Given the description of an element on the screen output the (x, y) to click on. 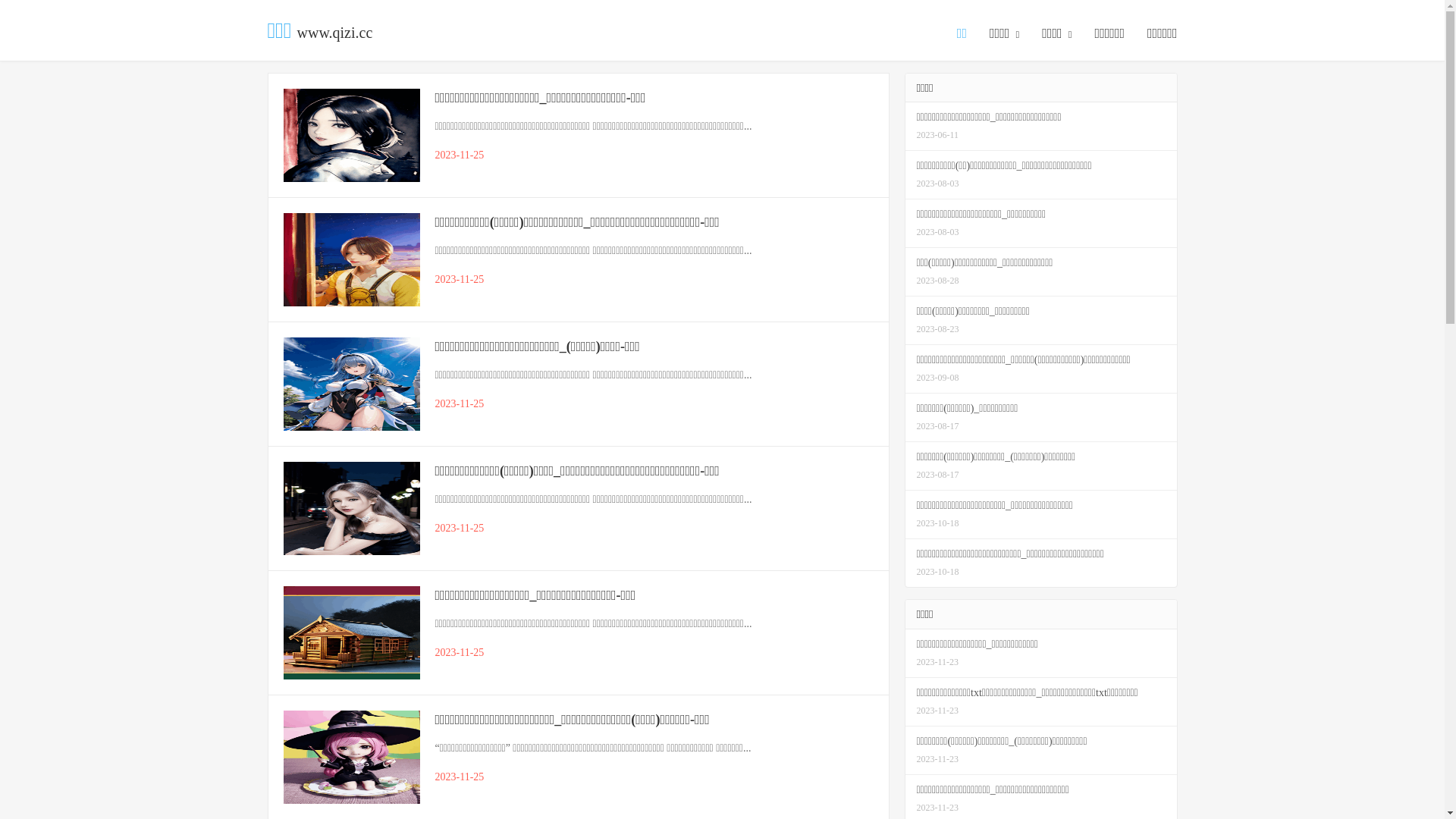
0 Element type: text (3, 24)
